Given the description of an element on the screen output the (x, y) to click on. 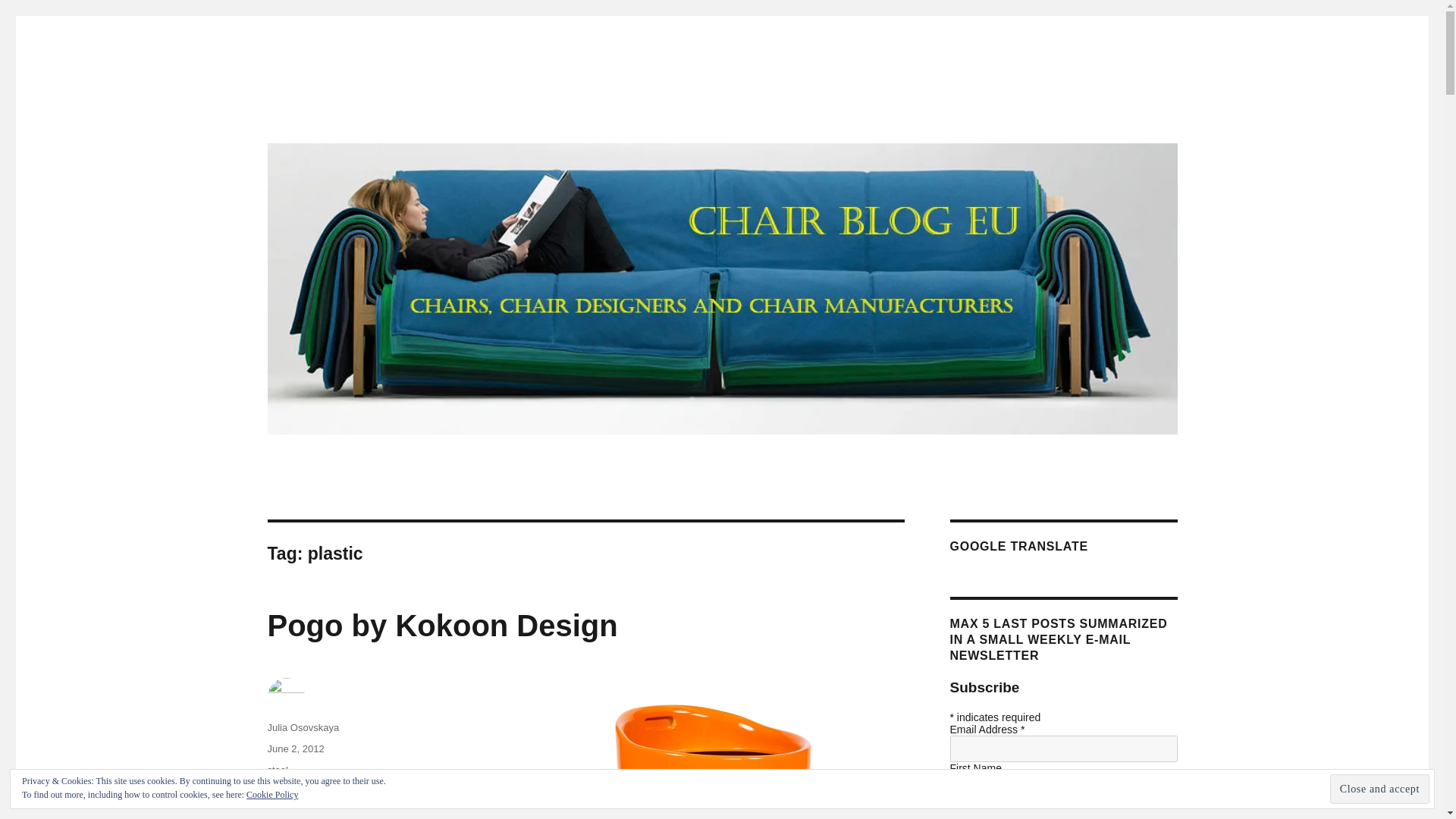
Chairblog.eu (331, 114)
Close and accept (1379, 788)
Pogo by Kokoon Design (441, 625)
orange (354, 790)
Kokoon Design (299, 790)
Julia Osovskaya (305, 812)
June 2, 2012 (302, 727)
stool (294, 748)
plastic (276, 769)
pogo1 (389, 790)
